Given the description of an element on the screen output the (x, y) to click on. 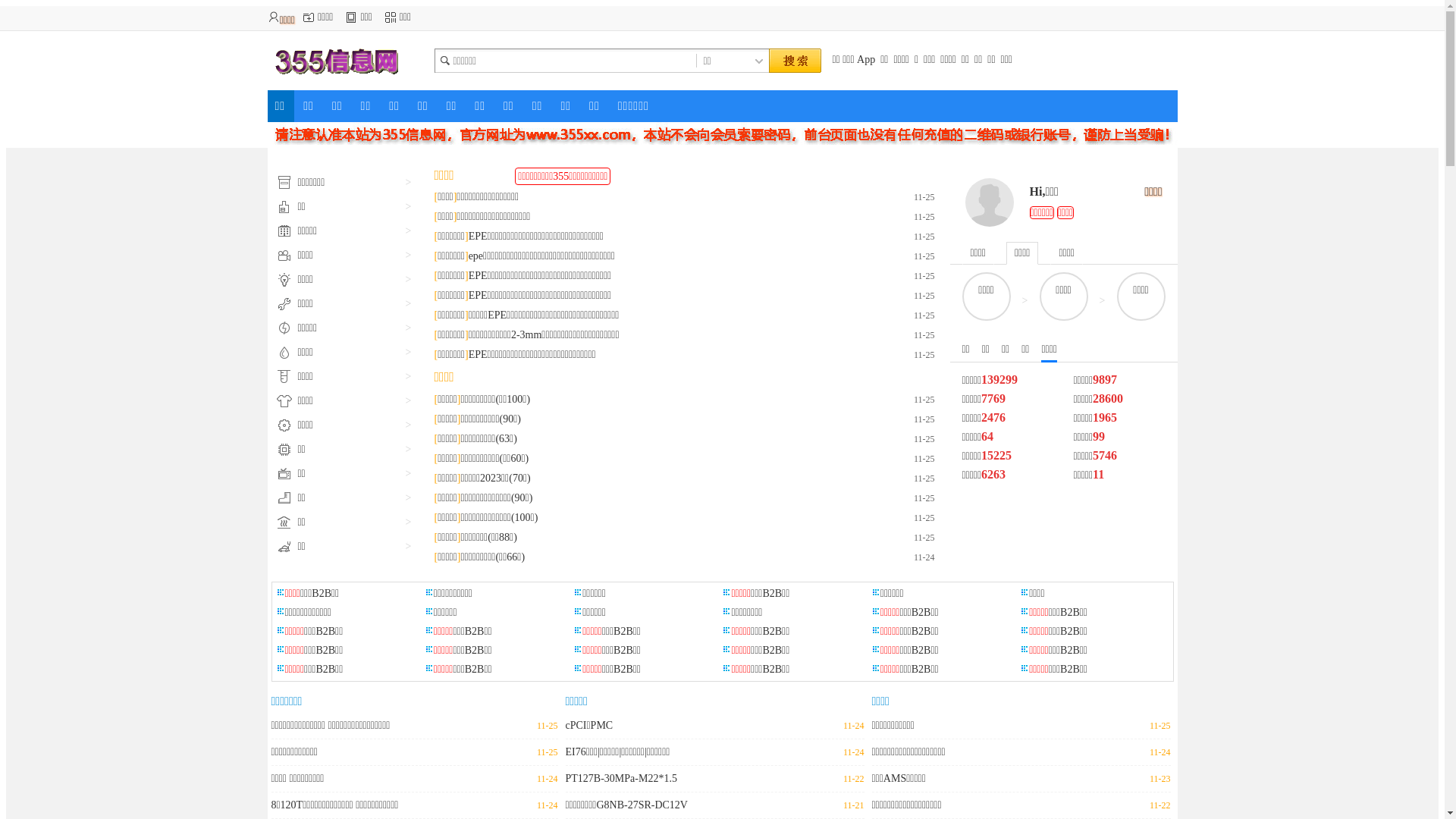
App Element type: text (865, 59)
  Element type: text (793, 60)
PT127B-30MPa-M22*1.5 Element type: text (621, 778)
